Given the description of an element on the screen output the (x, y) to click on. 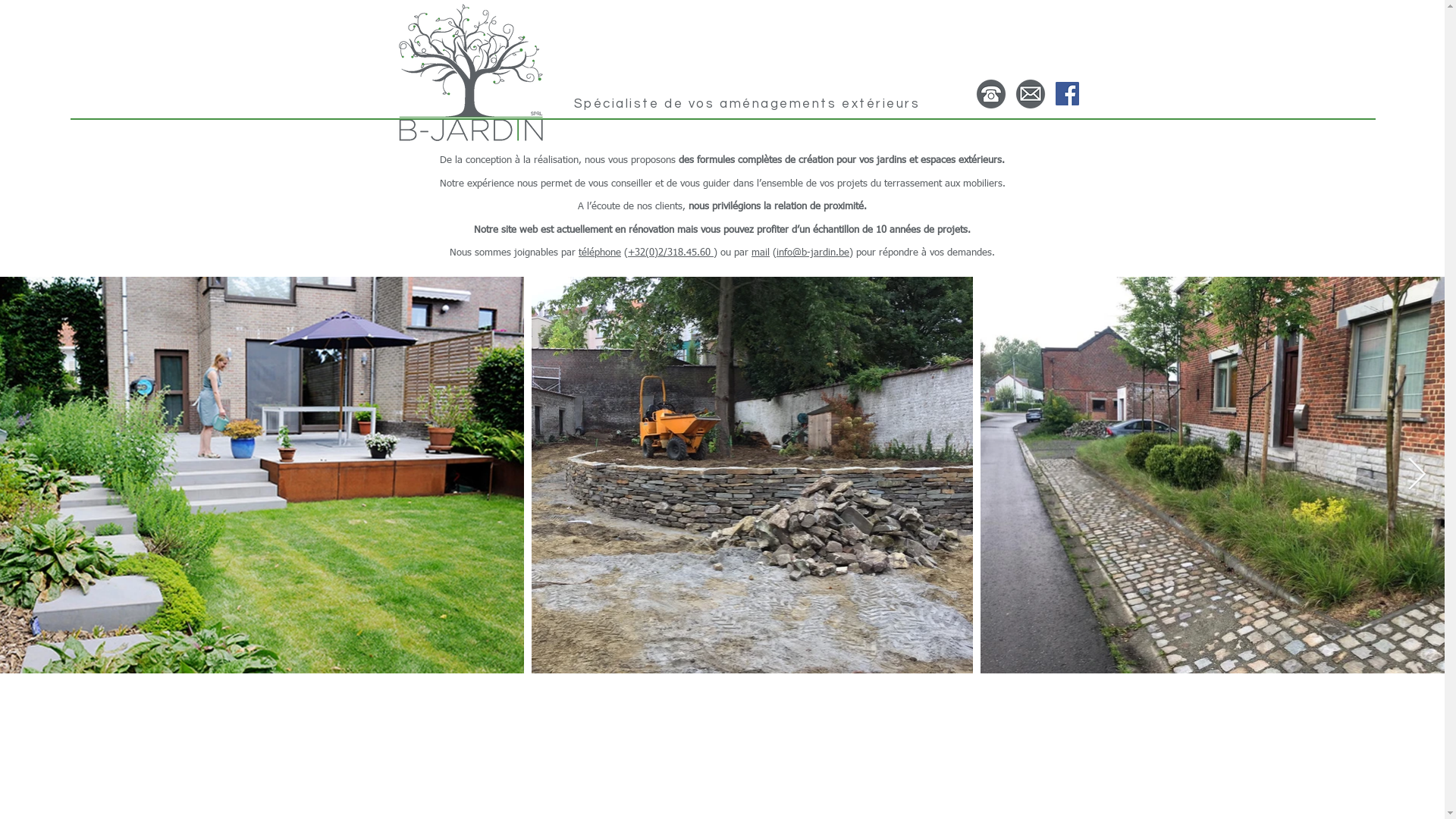
mail Element type: text (760, 252)
+32(0)2/ Element type: text (647, 252)
318.45.60  Element type: text (690, 252)
Ici Element type: text (385, 128)
info@b-jardin.be Element type: text (812, 252)
